Given the description of an element on the screen output the (x, y) to click on. 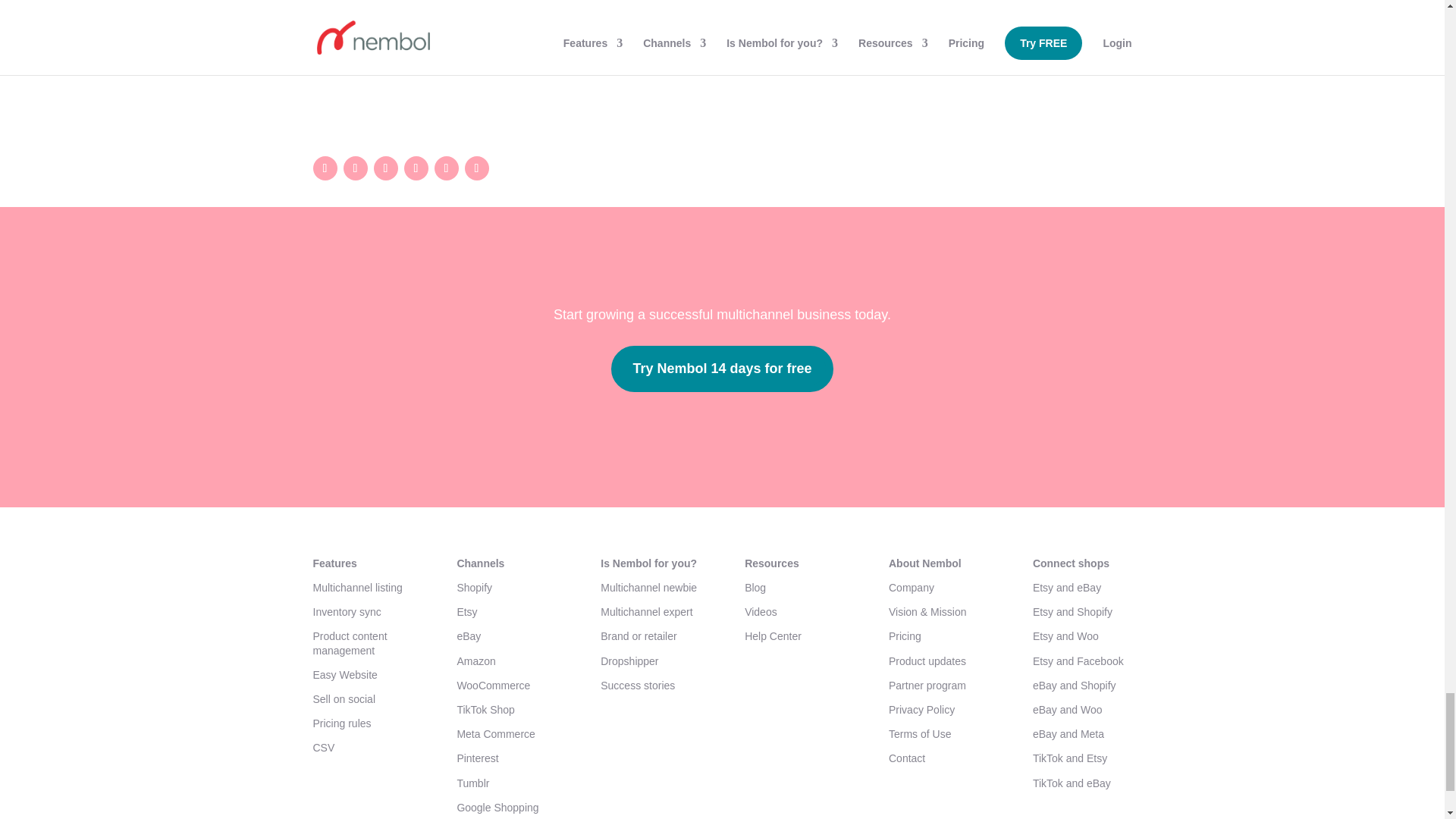
Follow on Facebook (415, 168)
Follow on Youtube (324, 168)
Follow on TikTok (475, 168)
Follow on Instagram (354, 168)
Follow on Medium (445, 168)
Follow on LinkedIn (384, 168)
